Given the description of an element on the screen output the (x, y) to click on. 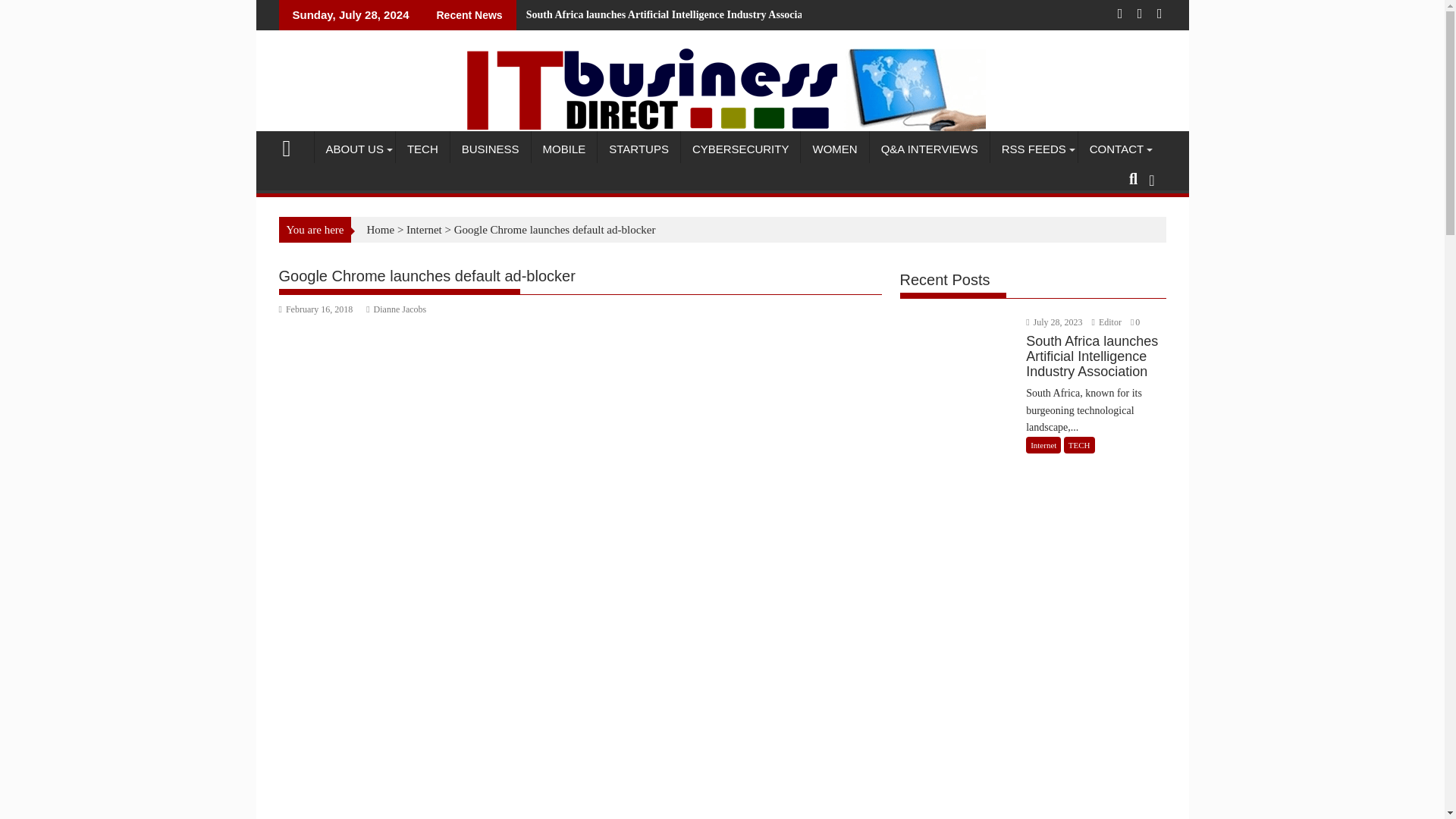
itbusinessdirect (293, 145)
CYBERSECURITY (740, 149)
WOMEN (833, 149)
BUSINESS (490, 149)
CONTACT (1116, 149)
RSS FEEDS (1033, 149)
MOBILE (563, 149)
STARTUPS (637, 149)
TECH (422, 149)
itbusinessdirect (722, 127)
Editor (1108, 321)
ABOUT US (354, 149)
